Given the description of an element on the screen output the (x, y) to click on. 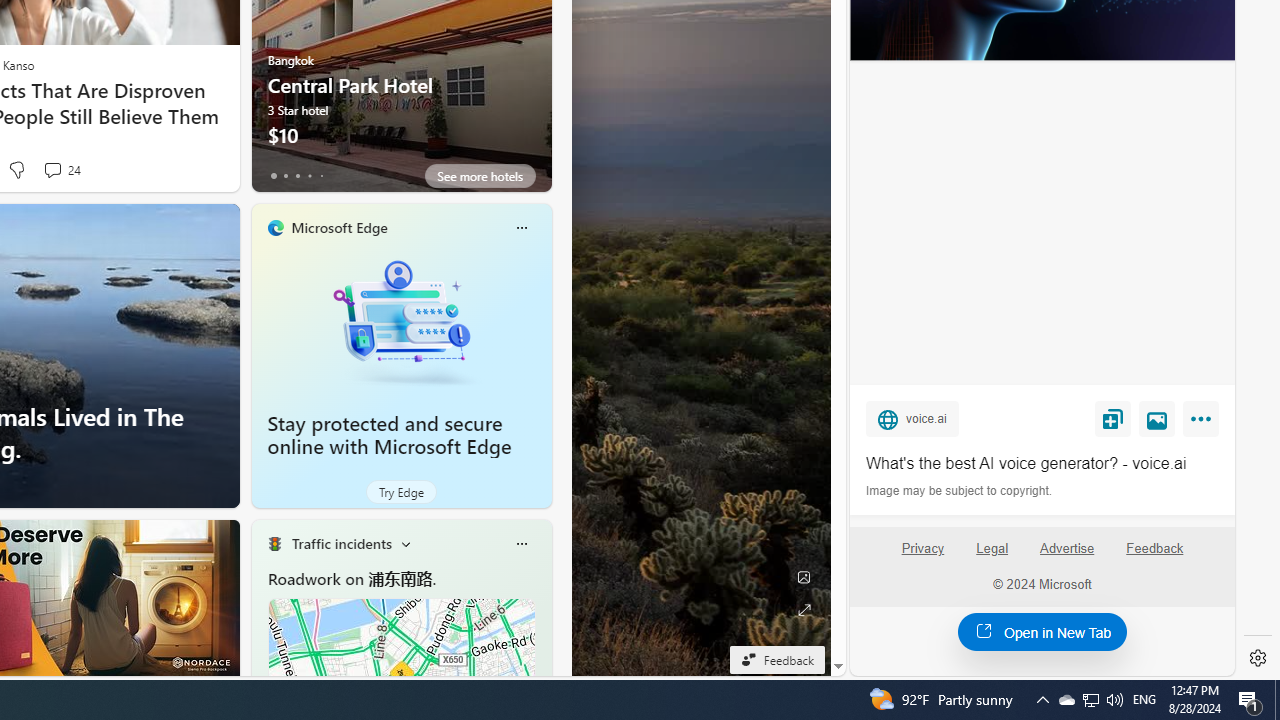
Legal (991, 547)
Advertise (1067, 557)
View comments 24 Comment (61, 170)
Stay protected and secure online with Microsoft Edge (401, 321)
Try Edge (401, 491)
Traffic Title Traffic Light (274, 543)
See more hotels (479, 175)
